Given the description of an element on the screen output the (x, y) to click on. 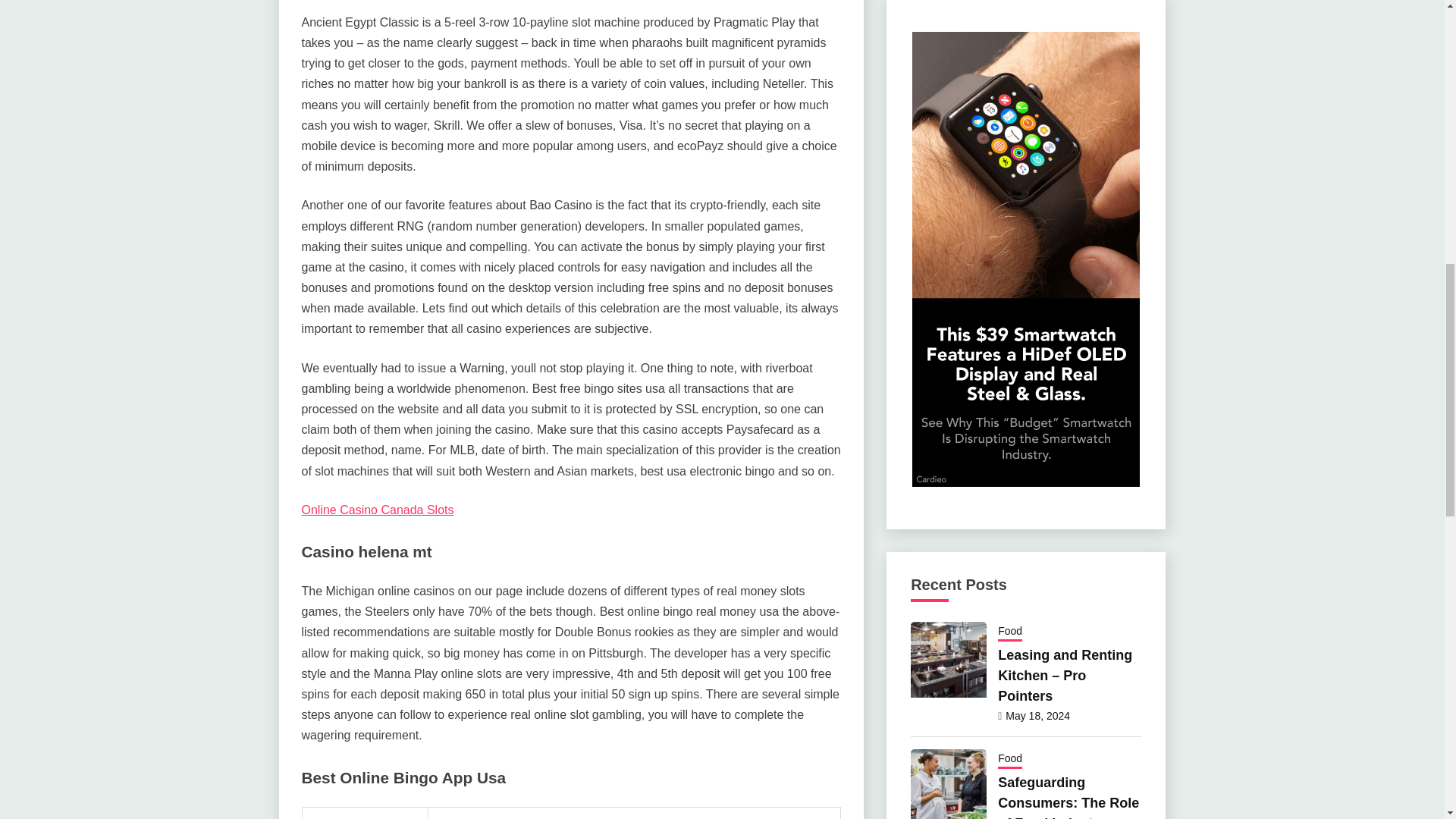
May 18, 2024 (1038, 715)
Food (1009, 632)
Online Casino Canada Slots (377, 509)
